Given the description of an element on the screen output the (x, y) to click on. 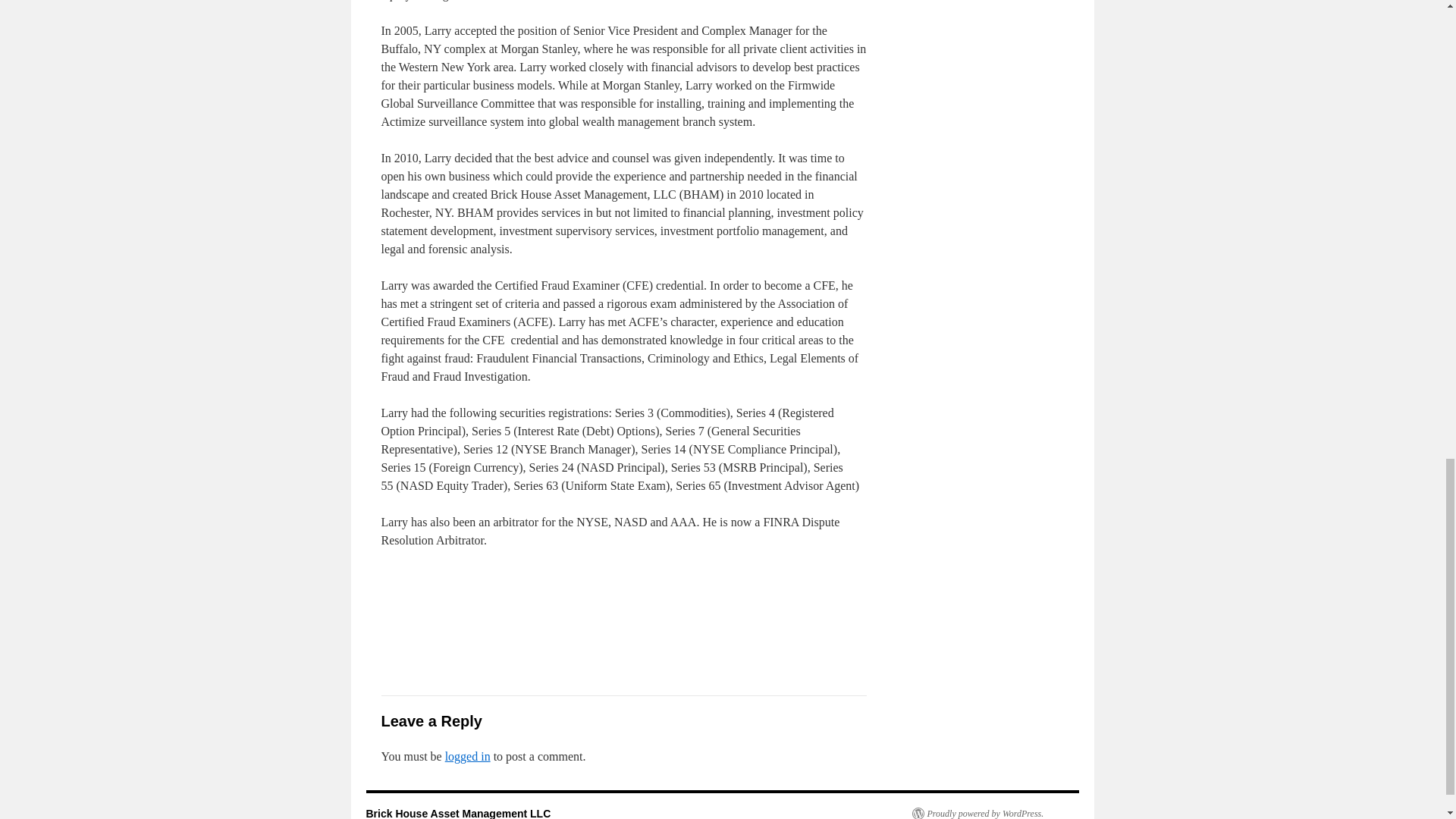
logged in (467, 756)
